Given the description of an element on the screen output the (x, y) to click on. 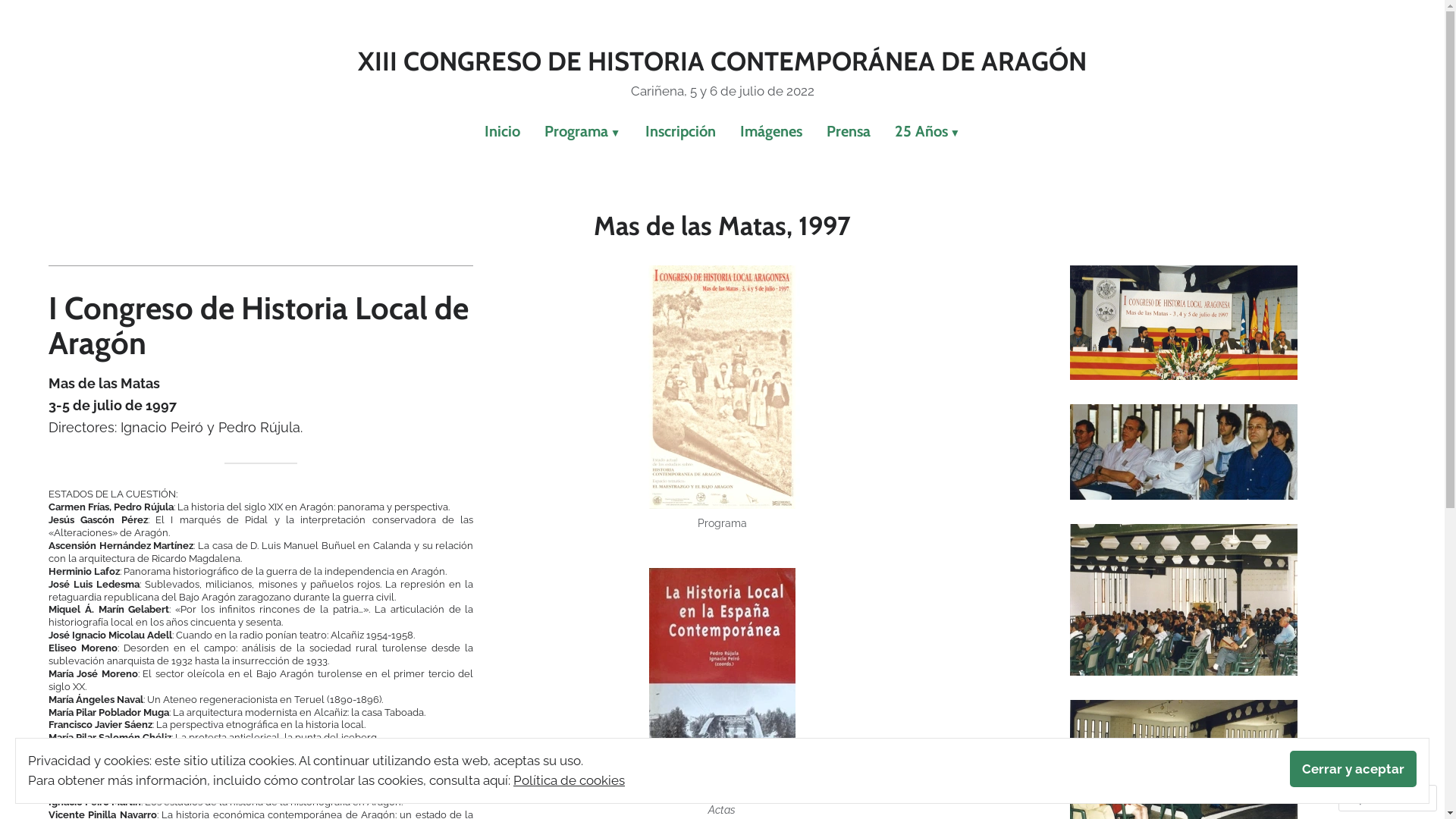
Prensa Element type: text (848, 131)
Cerrar y aceptar Element type: text (1352, 768)
Seguir Element type: text (1372, 797)
Inicio Element type: text (508, 131)
Programa Element type: text (582, 131)
